Given the description of an element on the screen output the (x, y) to click on. 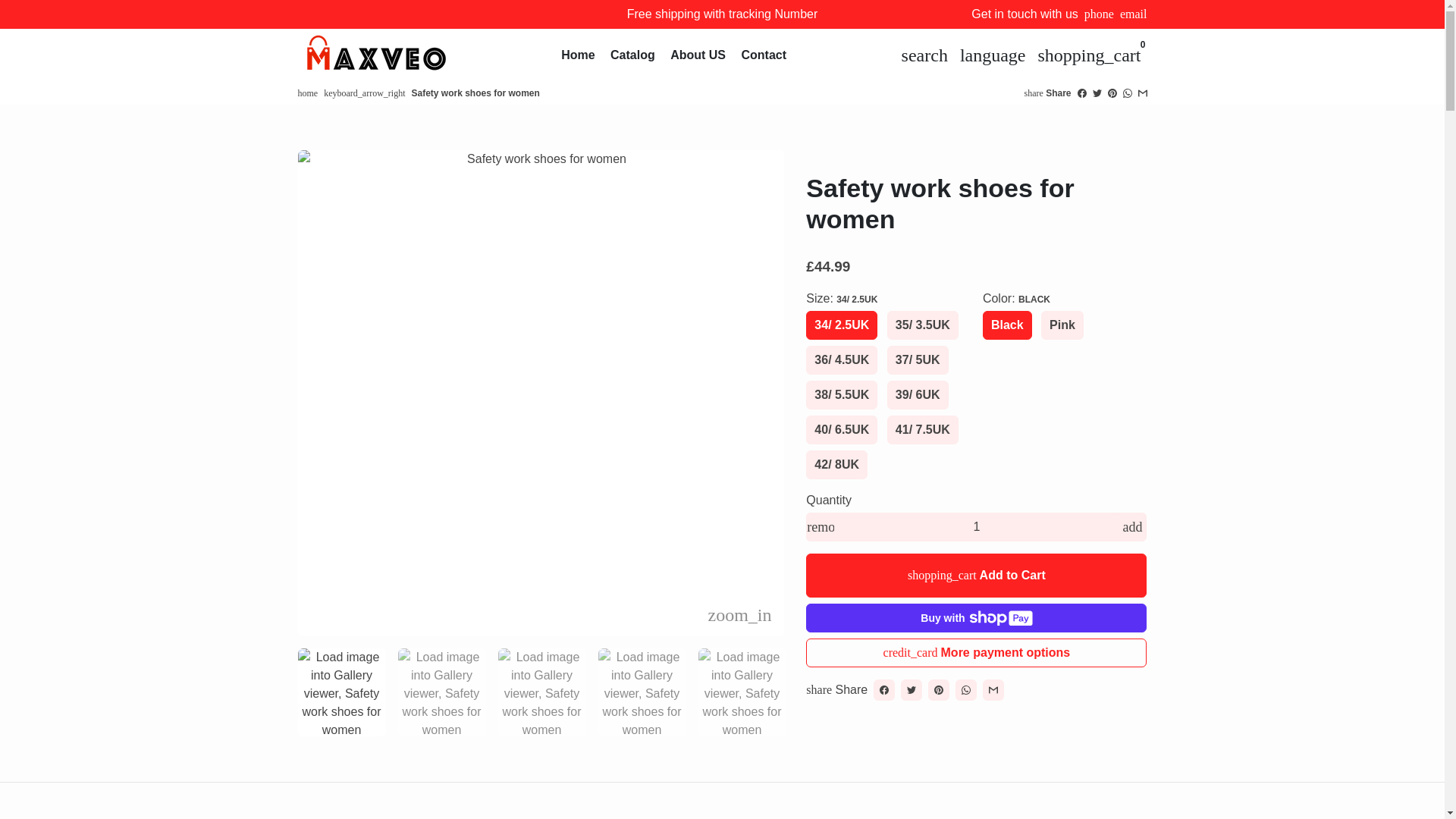
About US (697, 54)
Reduce item quantity by one (820, 526)
Increase item quantity by one (1132, 526)
Safety work shoes for women (474, 92)
email (1133, 13)
1 (976, 526)
Share on Facebook (884, 690)
Contact (763, 54)
language (992, 54)
Search (924, 54)
home (307, 92)
search (924, 54)
Home (576, 54)
